Given the description of an element on the screen output the (x, y) to click on. 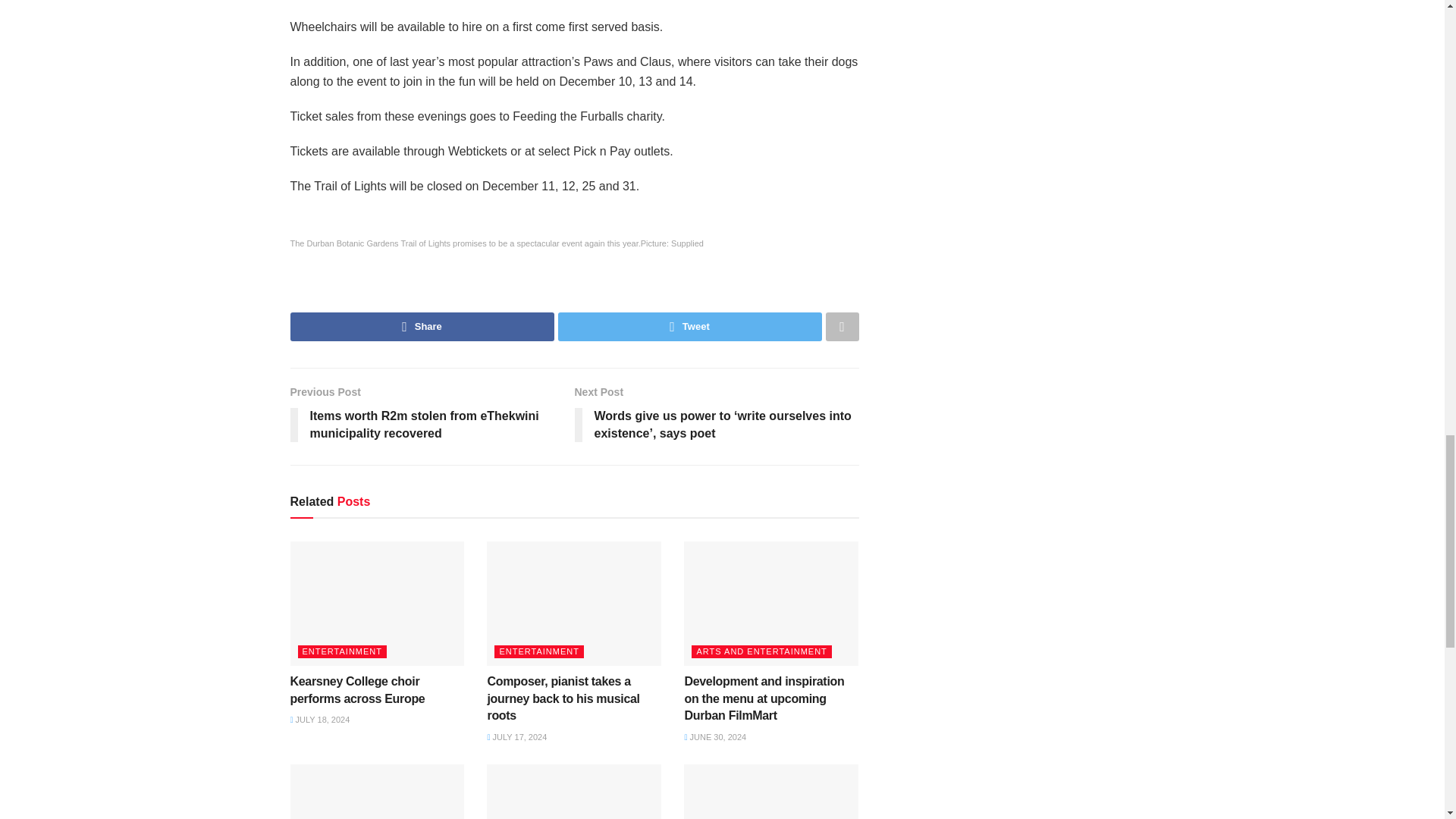
Share (421, 326)
Tweet (689, 326)
